Given the description of an element on the screen output the (x, y) to click on. 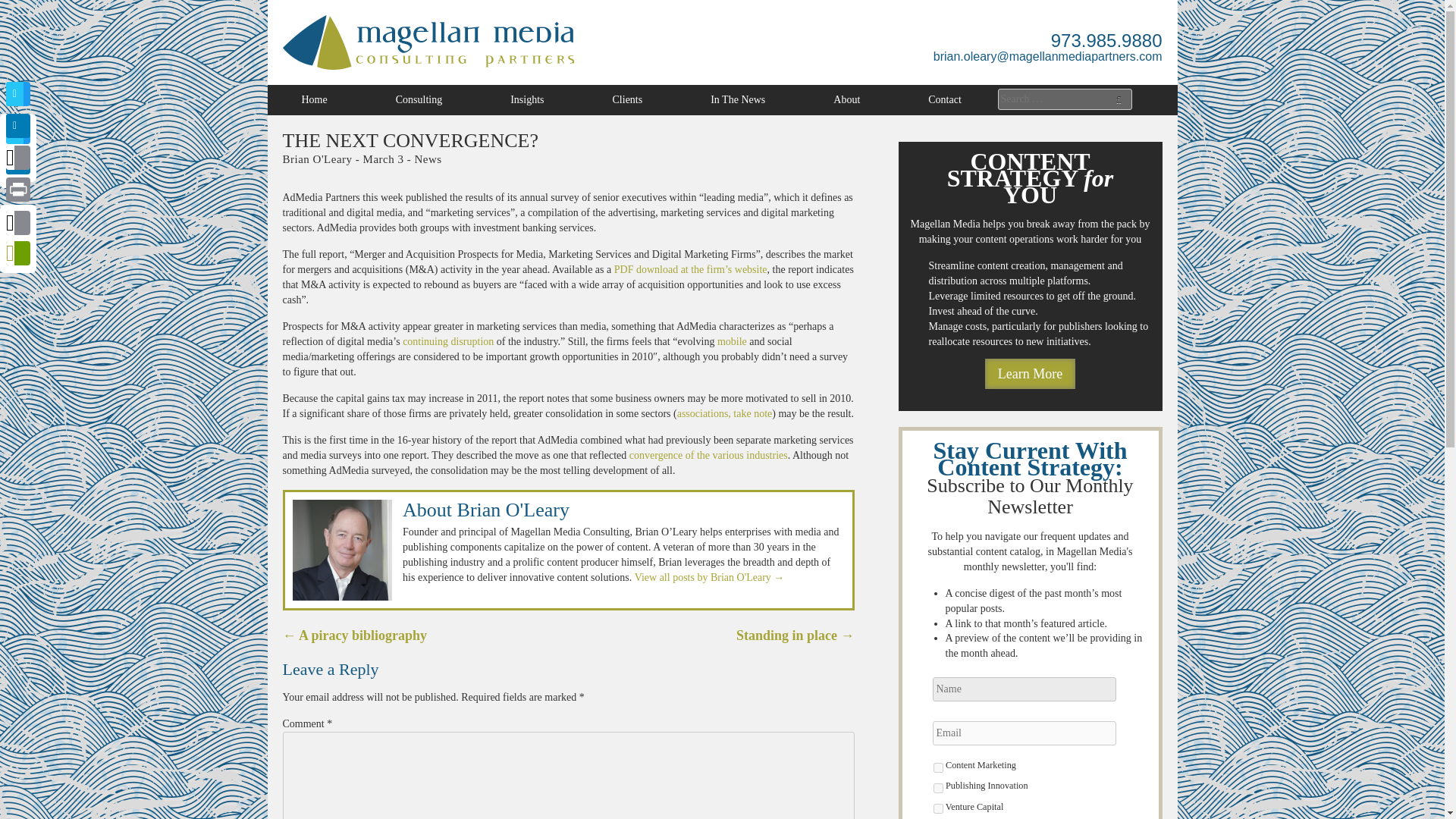
Email (17, 223)
Learn More (1030, 373)
mobile (731, 341)
associations, take note (725, 413)
Insights (527, 100)
mobile (731, 341)
Content Marketing (937, 767)
Twitter (17, 132)
Contact (944, 100)
convergence of the various industries (707, 455)
continuing disruption (448, 341)
PrintFriendly (17, 254)
Search for: (1064, 98)
About (846, 100)
Clients (627, 100)
